Given the description of an element on the screen output the (x, y) to click on. 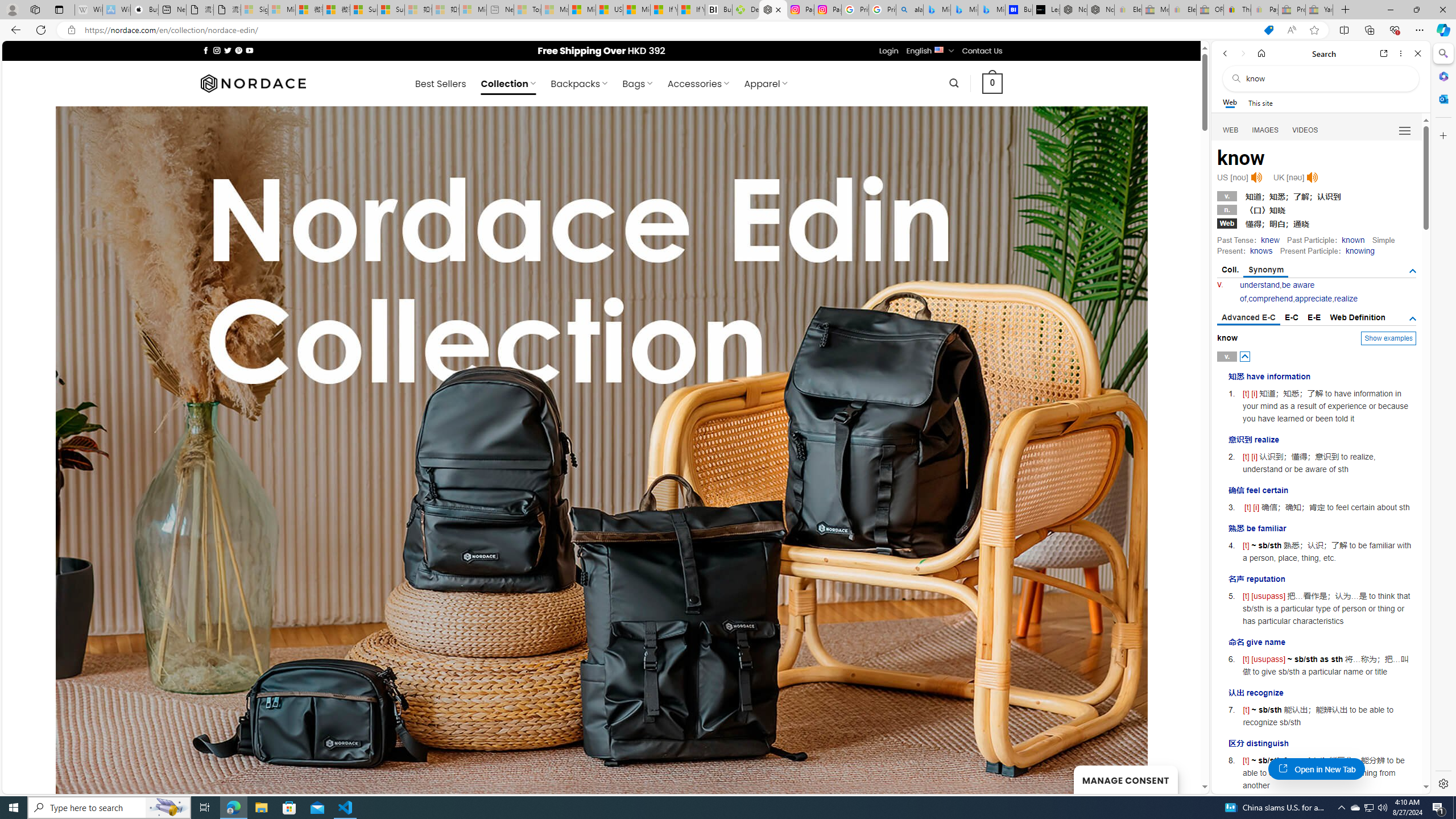
 Best Sellers (439, 83)
Click to listen (1312, 177)
E-E (1314, 317)
